Given the description of an element on the screen output the (x, y) to click on. 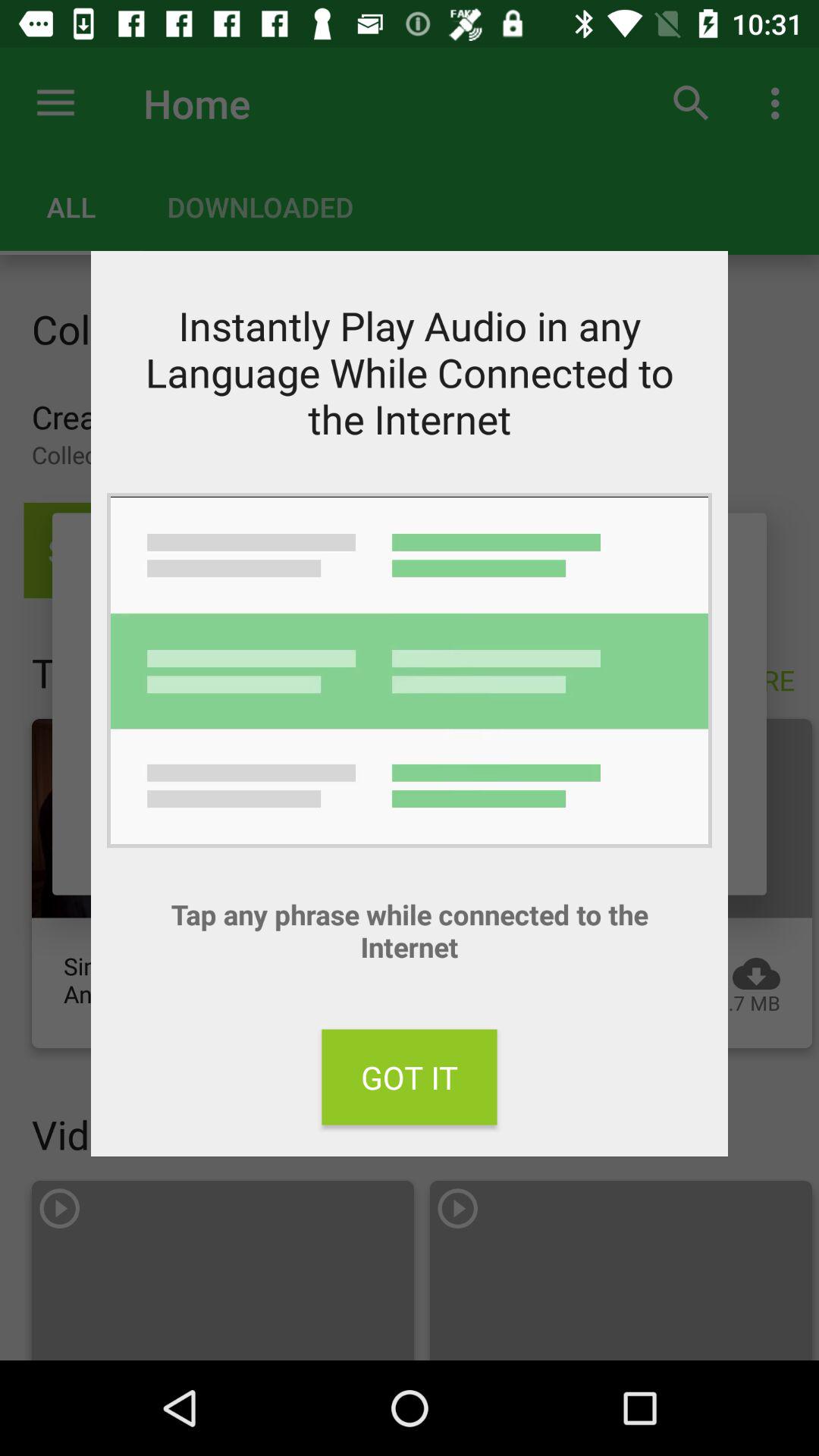
select icon below tap any phrase icon (409, 1076)
